Given the description of an element on the screen output the (x, y) to click on. 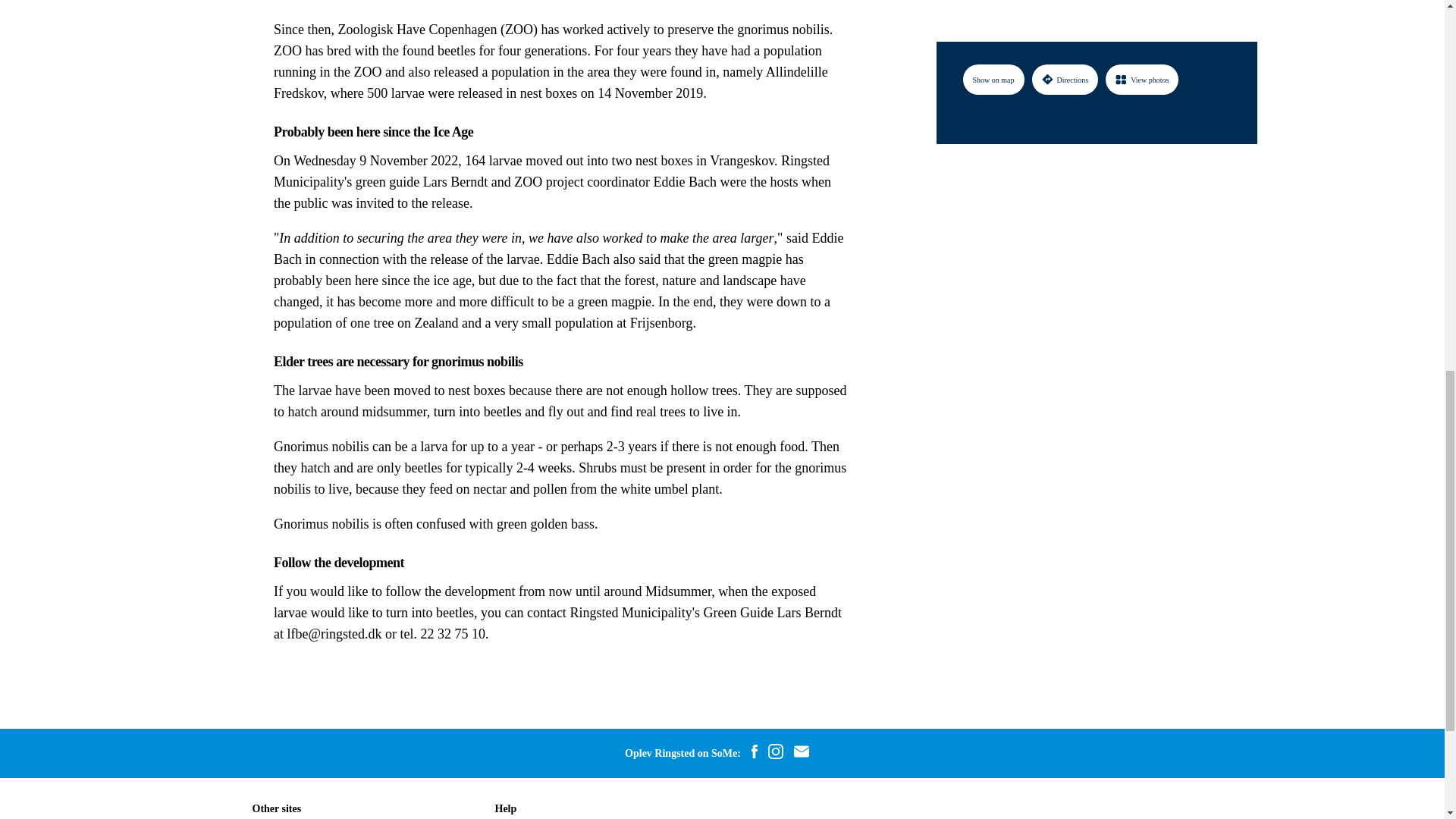
instagram (775, 753)
facebook (753, 753)
newsletter (801, 753)
